Given the description of an element on the screen output the (x, y) to click on. 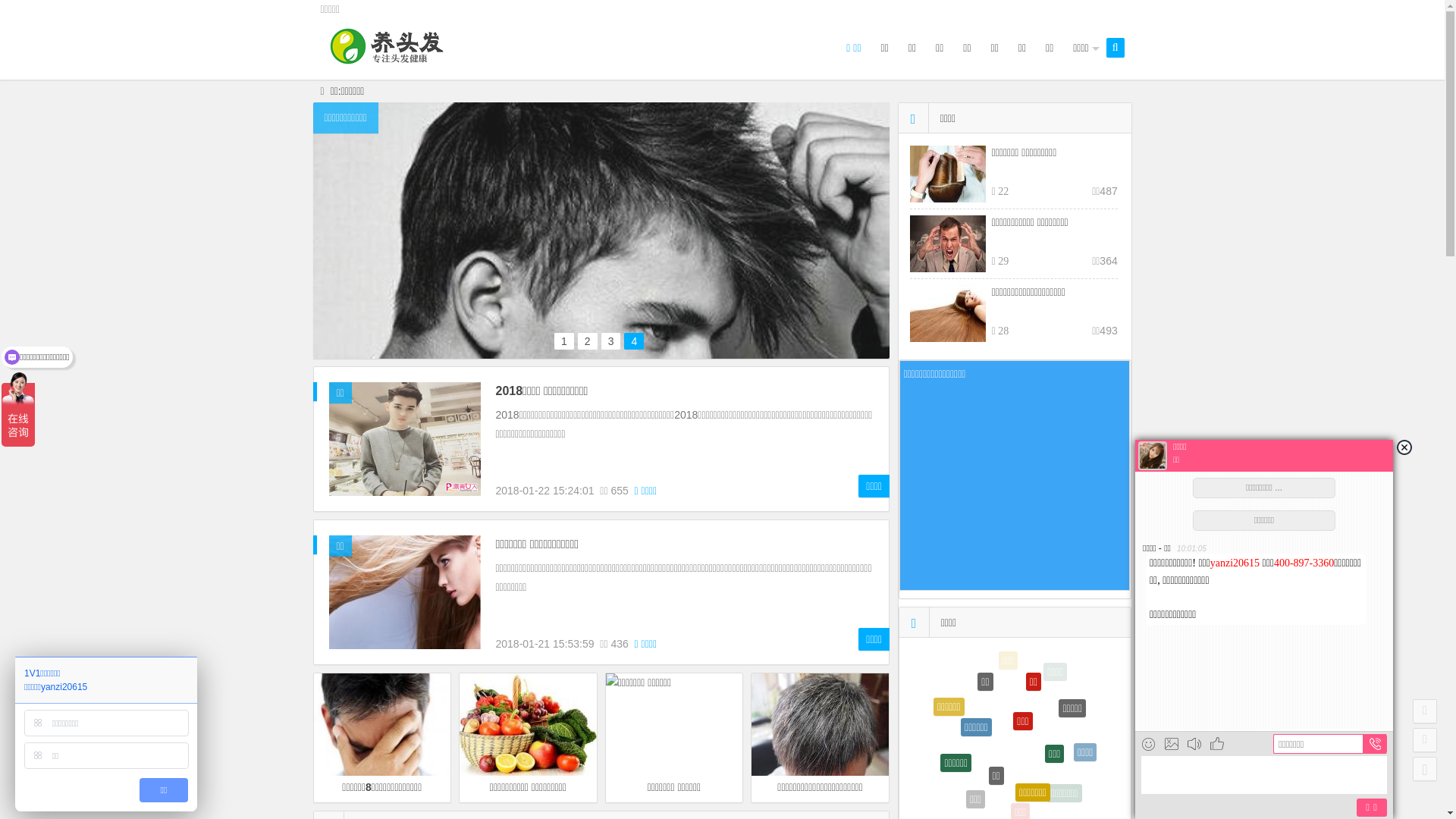
3 Element type: text (611, 340)
4 Element type: text (633, 340)
1 Element type: text (564, 340)
2 Element type: text (587, 340)
